Given the description of an element on the screen output the (x, y) to click on. 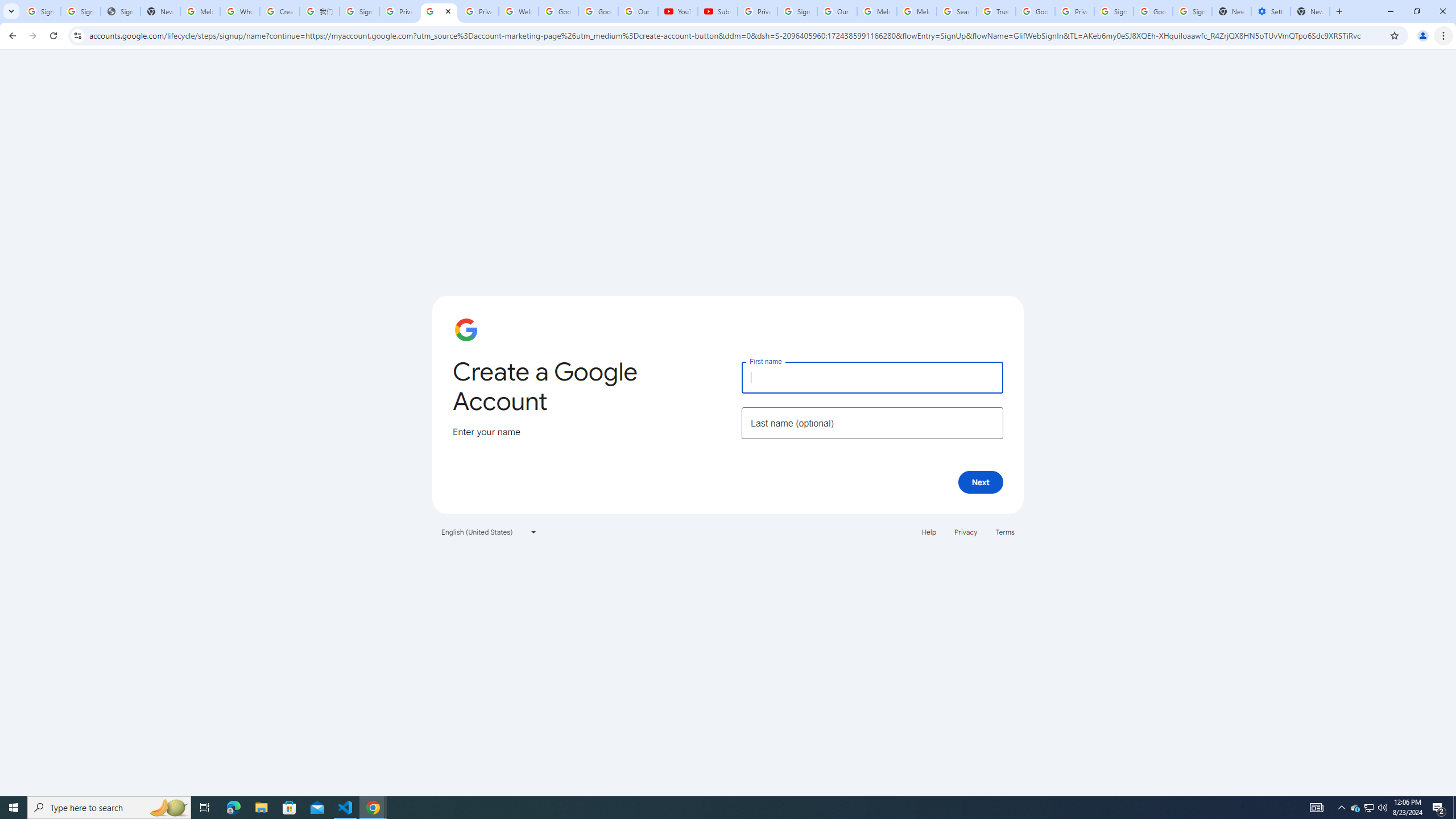
New Tab (1310, 11)
Sign in - Google Accounts (359, 11)
Settings - Addresses and more (1270, 11)
Sign in - Google Accounts (1113, 11)
Sign in - Google Accounts (80, 11)
Search our Doodle Library Collection - Google Doodles (956, 11)
Create your Google Account (279, 11)
Sign in - Google Accounts (1192, 11)
